Given the description of an element on the screen output the (x, y) to click on. 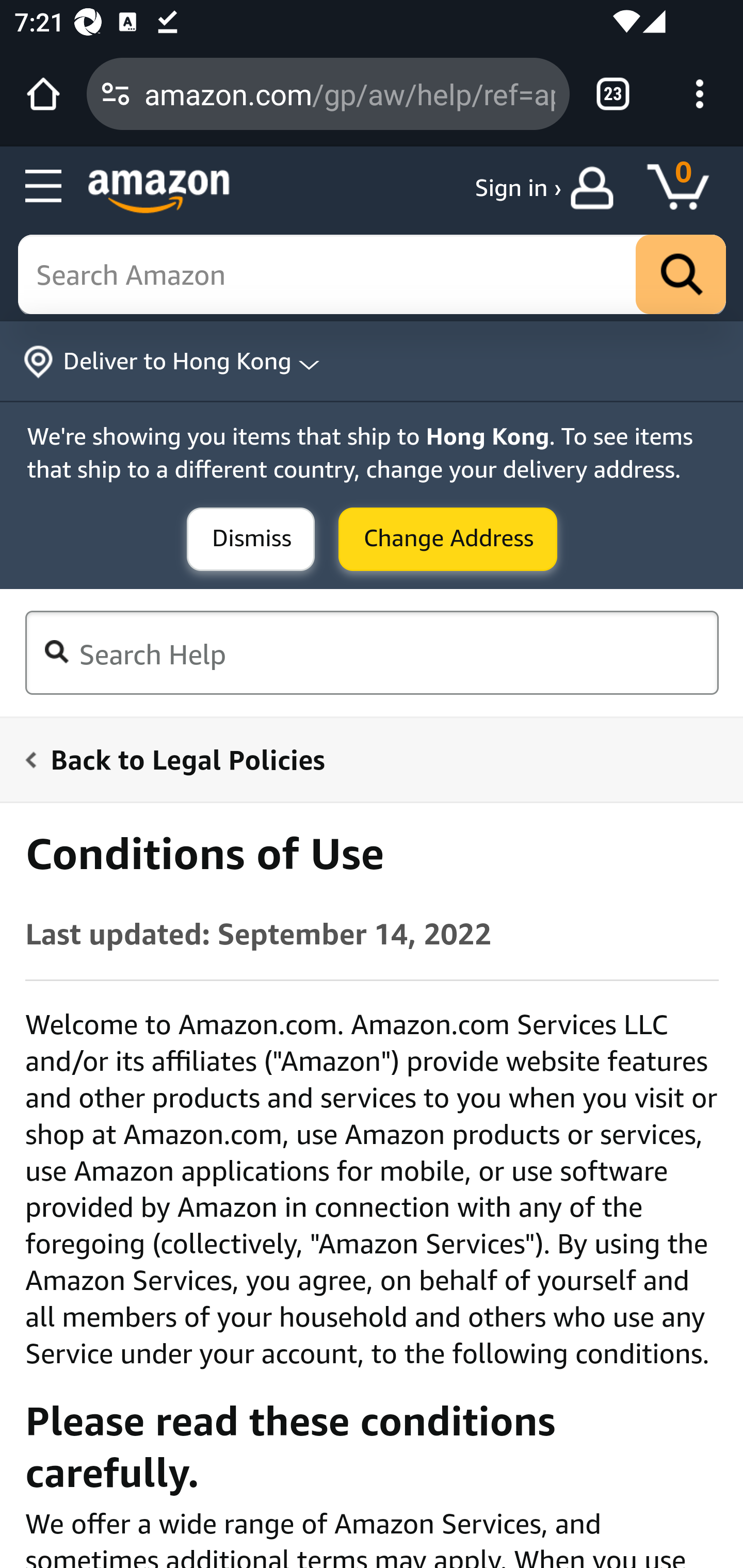
Open the home page (43, 93)
Connection is secure (115, 93)
Switch or close tabs (612, 93)
Customize and control Google Chrome (699, 93)
Open Menu (44, 187)
Sign in › (518, 188)
your account (596, 188)
Cart 0 (687, 188)
Amazon (158, 191)
Go (681, 275)
Submit (250, 539)
Submit (447, 539)
Back to Legal Policies (359, 758)
